Given the description of an element on the screen output the (x, y) to click on. 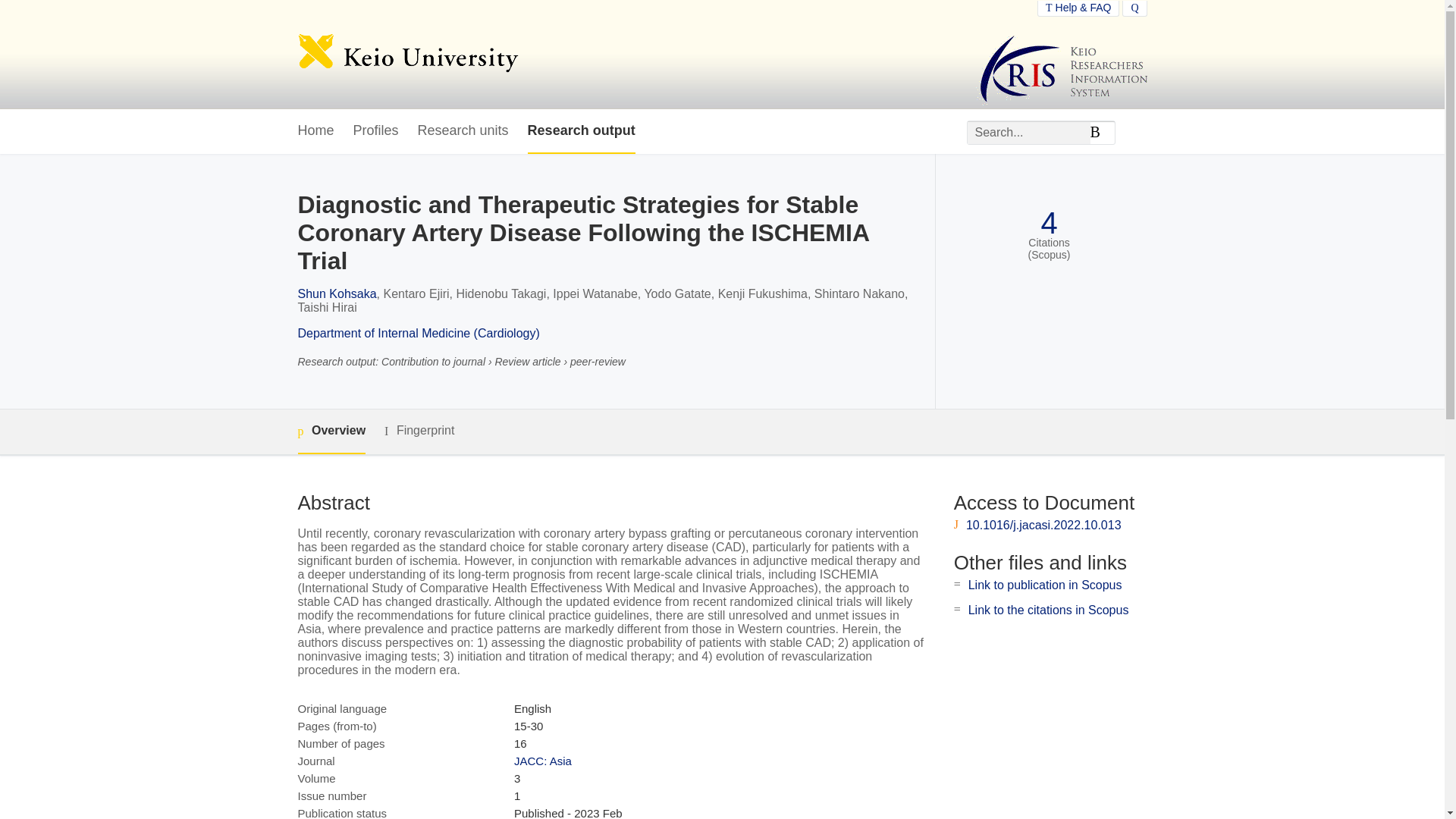
Profiles (375, 130)
Shun Kohsaka (336, 293)
Overview (331, 431)
Research units (462, 130)
Keio University Home (407, 54)
Link to the citations in Scopus (1048, 609)
Research output (580, 130)
JACC: Asia (542, 760)
Fingerprint (419, 430)
